Given the description of an element on the screen output the (x, y) to click on. 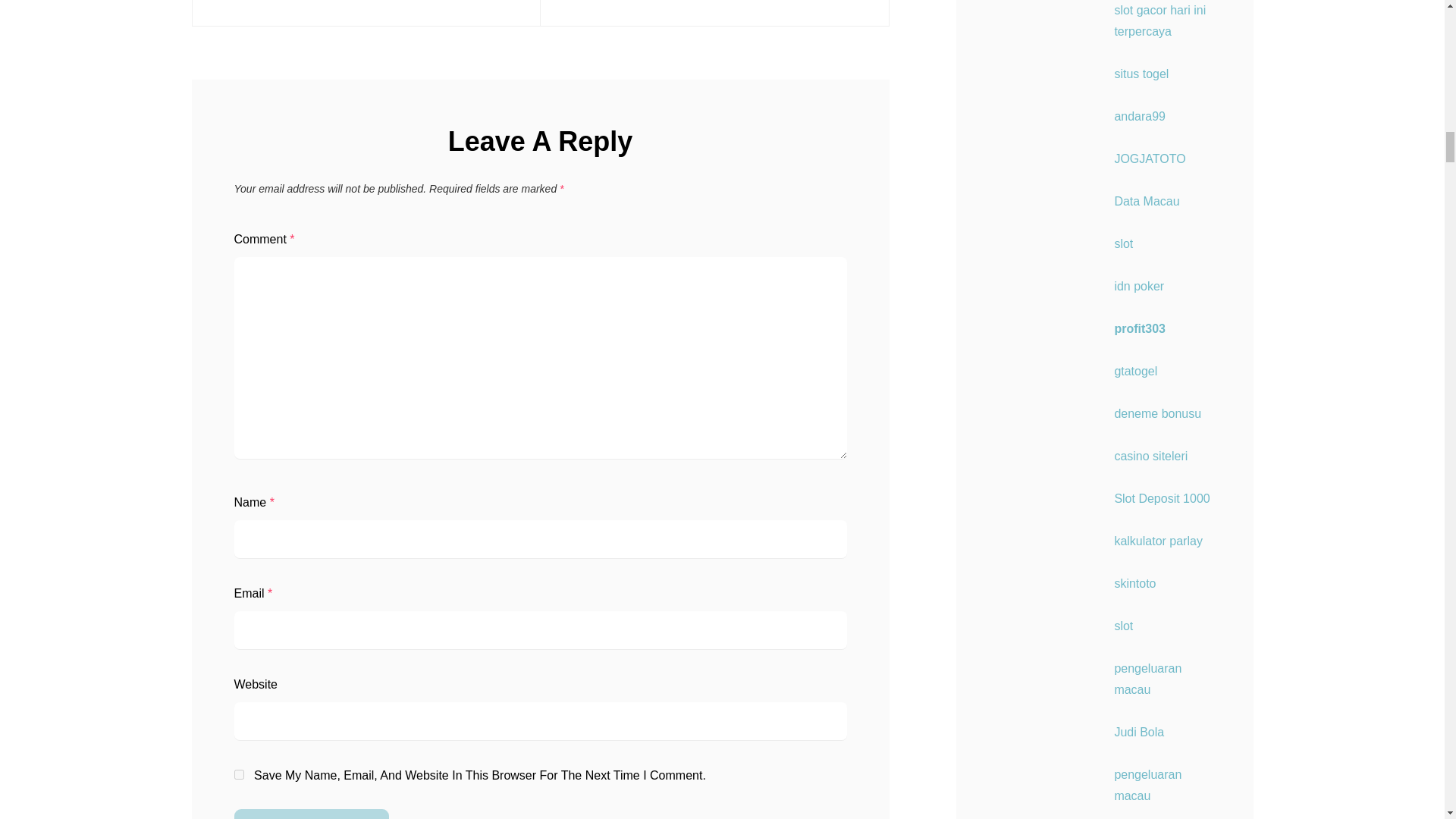
Post Comment (310, 814)
Post Comment (310, 814)
yes (237, 774)
